Given the description of an element on the screen output the (x, y) to click on. 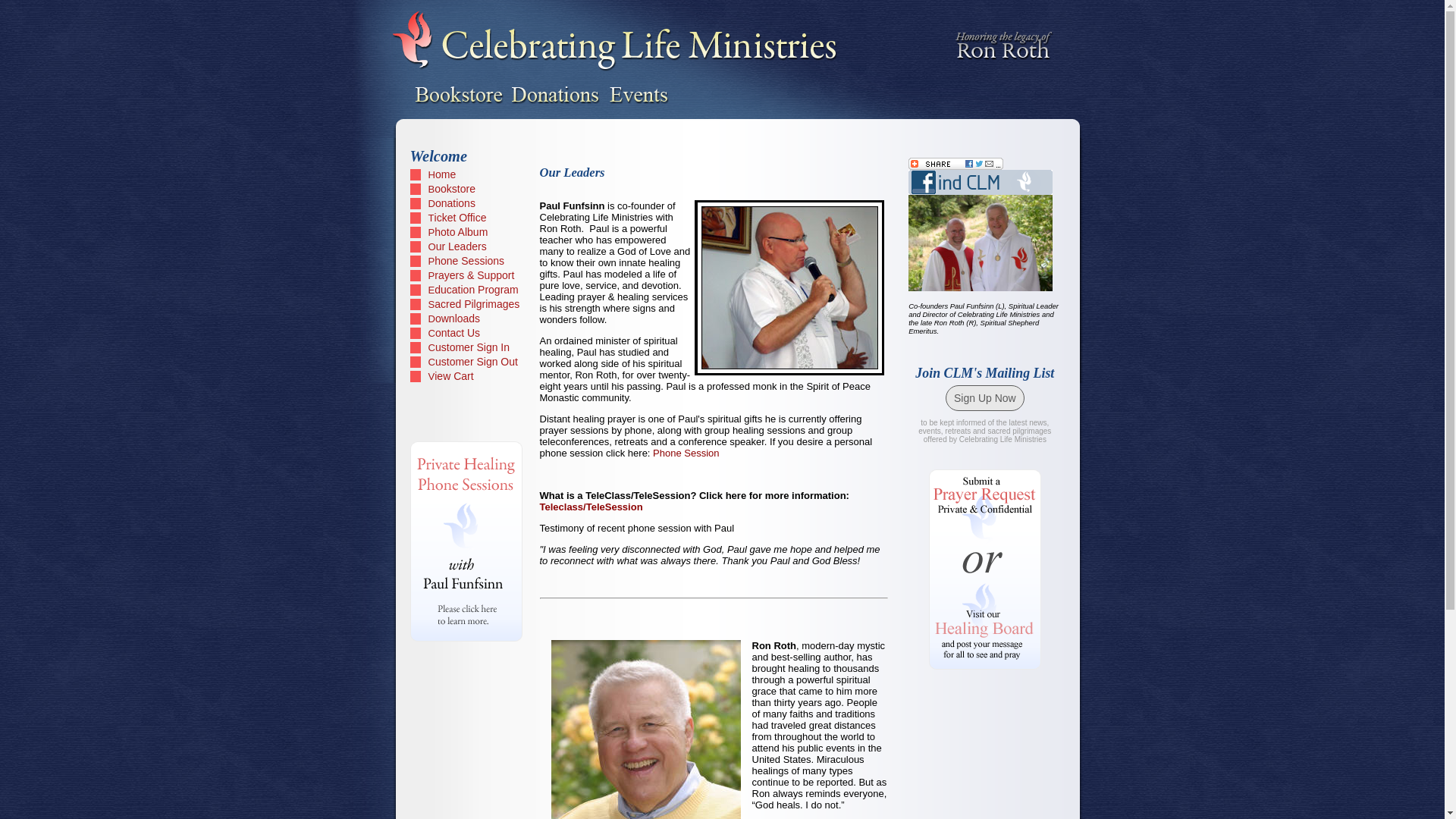
Phone Session (685, 452)
Click for Prayer Requests (985, 520)
Contact Us (467, 333)
Donations (467, 203)
Downloads (467, 318)
Customer Sign Out (467, 361)
Sacred Pilgrimages (467, 304)
Customer Sign In (467, 347)
Photo Album (467, 232)
Ticket Office (467, 217)
Bookstore (467, 188)
Sign Up Now (984, 397)
Home (467, 174)
Phone Sessions (467, 260)
Education Program (467, 289)
